Given the description of an element on the screen output the (x, y) to click on. 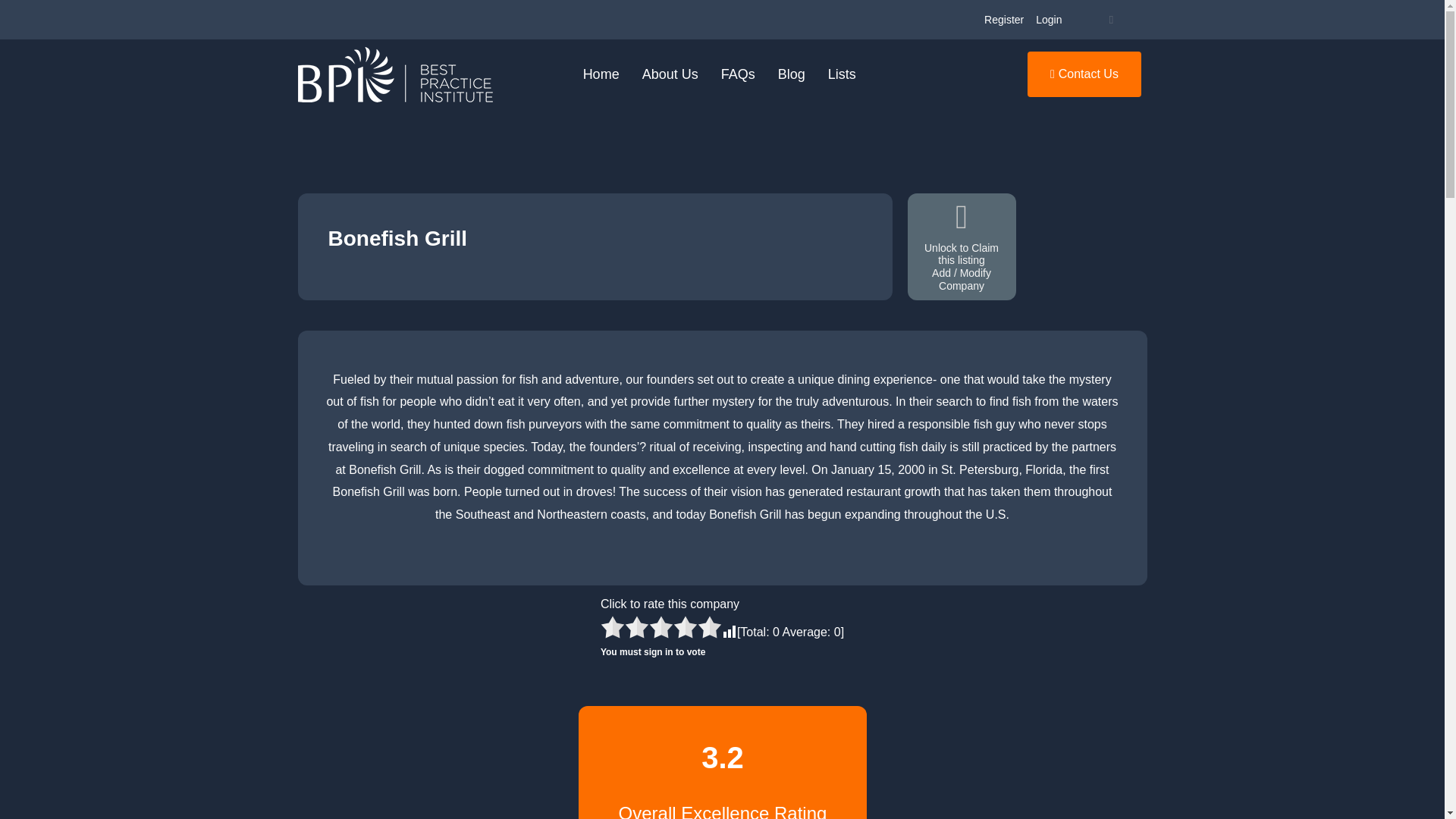
Lists (841, 74)
Contact Us (1084, 74)
Blog (791, 74)
Login (1048, 19)
FAQs (738, 74)
Register (1003, 19)
Cart (1110, 19)
About Us (670, 74)
Home (601, 74)
